Given the description of an element on the screen output the (x, y) to click on. 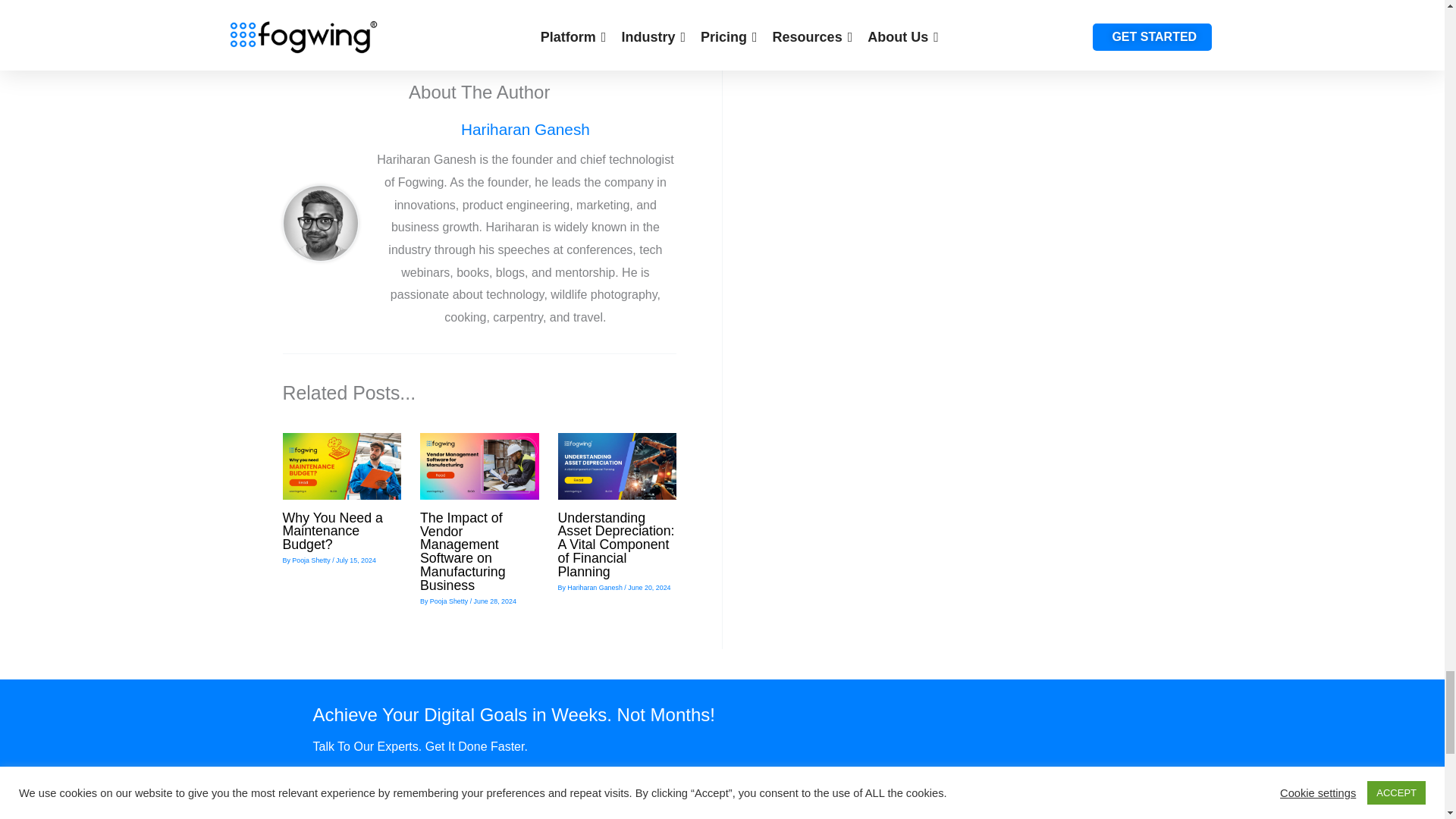
View all posts by Hariharan Ganesh (595, 587)
View all posts by Pooja Shetty (311, 560)
View all posts by Pooja Shetty (449, 601)
